Given the description of an element on the screen output the (x, y) to click on. 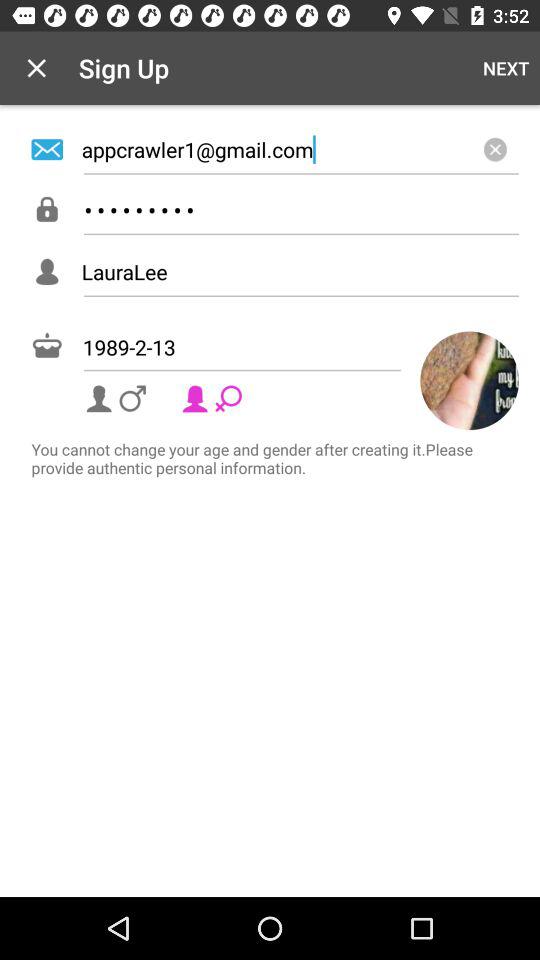
tap the icon to the left of the sign up (36, 68)
